Given the description of an element on the screen output the (x, y) to click on. 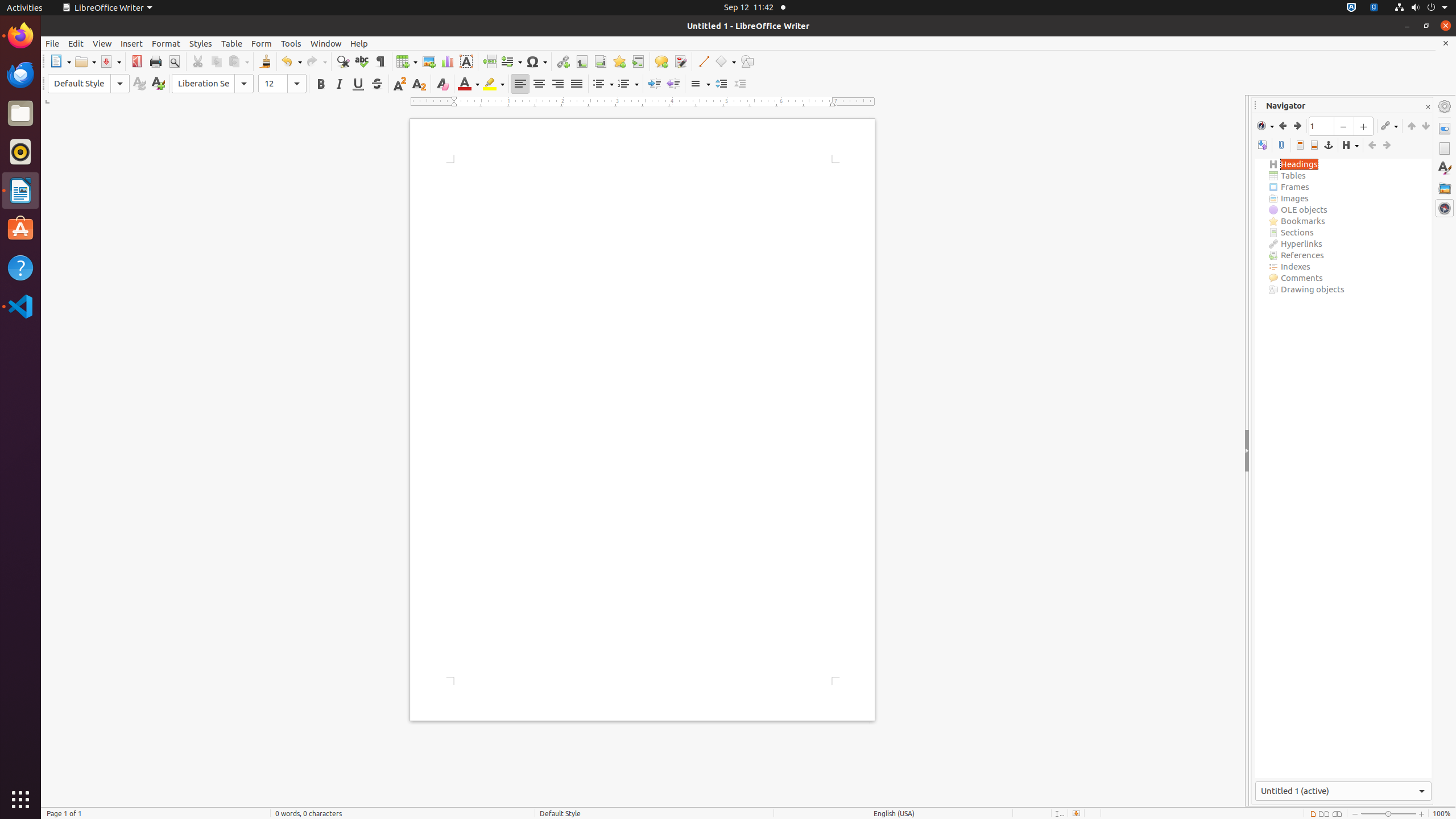
Formatting Marks Element type: toggle-button (379, 61)
Demote Level Element type: push-button (1386, 144)
Spelling Element type: push-button (361, 61)
Window Element type: menu (325, 43)
Edit Element type: menu (75, 43)
